Given the description of an element on the screen output the (x, y) to click on. 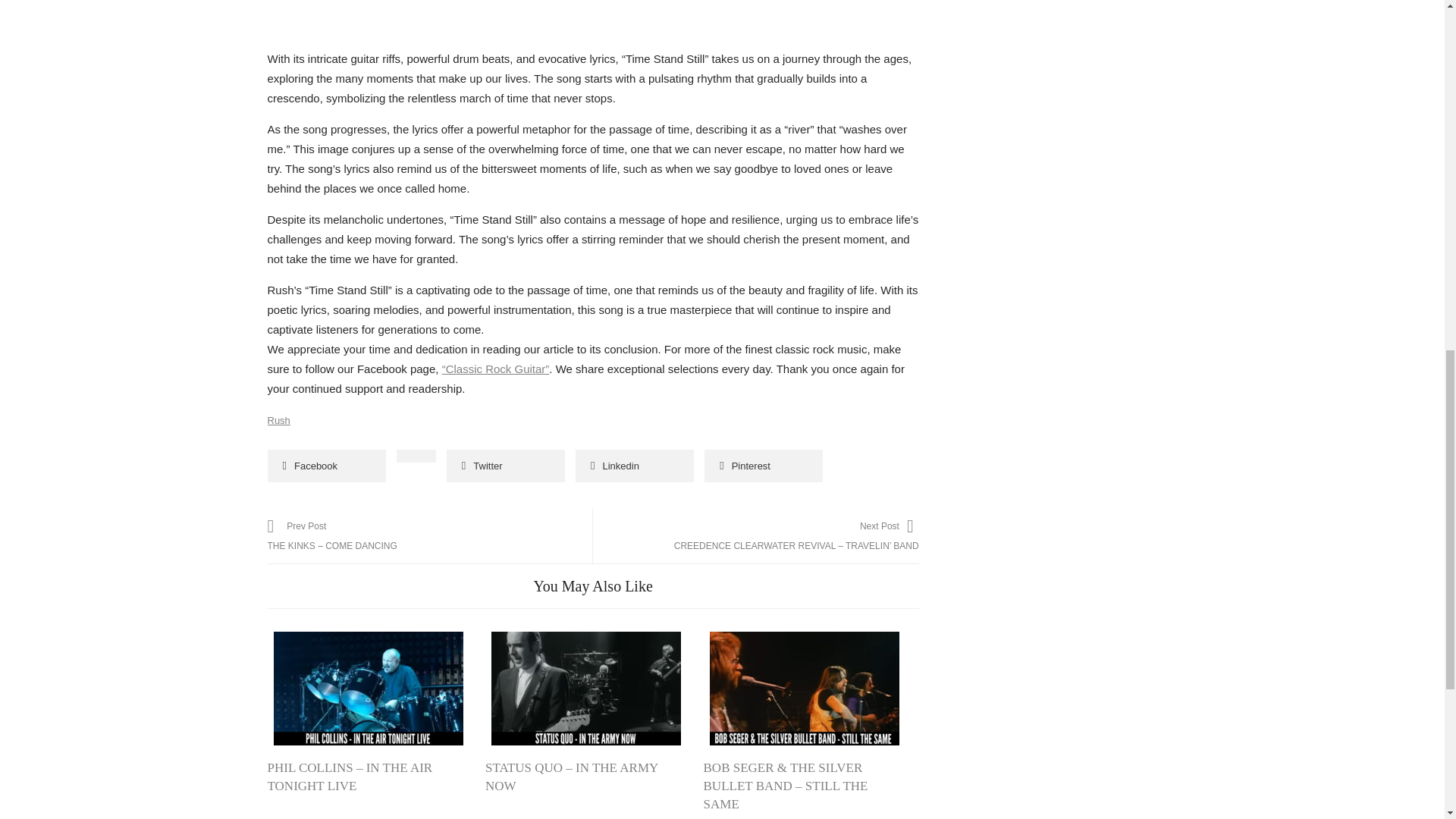
Pinterest (763, 465)
Linkedin (634, 465)
Twitter (505, 465)
Facebook (325, 465)
Advertisement (592, 24)
Rush (277, 419)
